Given the description of an element on the screen output the (x, y) to click on. 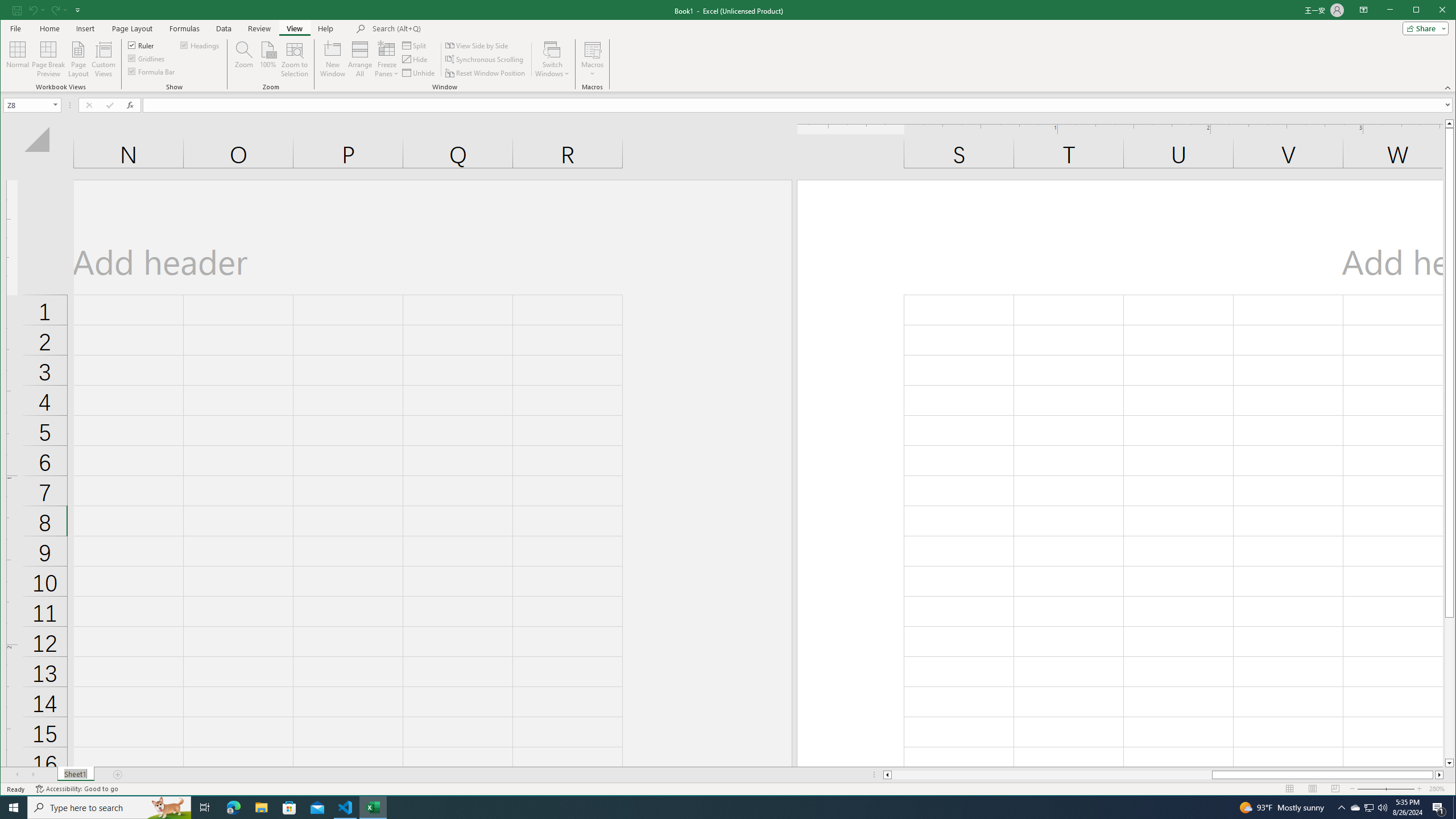
New Window (332, 59)
Formulas (184, 28)
Gridlines (147, 57)
Show desktop (1454, 807)
Search highlights icon opens search home window (167, 807)
Q2790: 100% (1382, 807)
Column right (1439, 774)
Page Layout (78, 59)
Insert (85, 28)
View Side by Side (478, 45)
Zoom... (243, 59)
Zoom to Selection (294, 59)
Share (1422, 27)
Add Sheet (118, 774)
Name Box (32, 105)
